Given the description of an element on the screen output the (x, y) to click on. 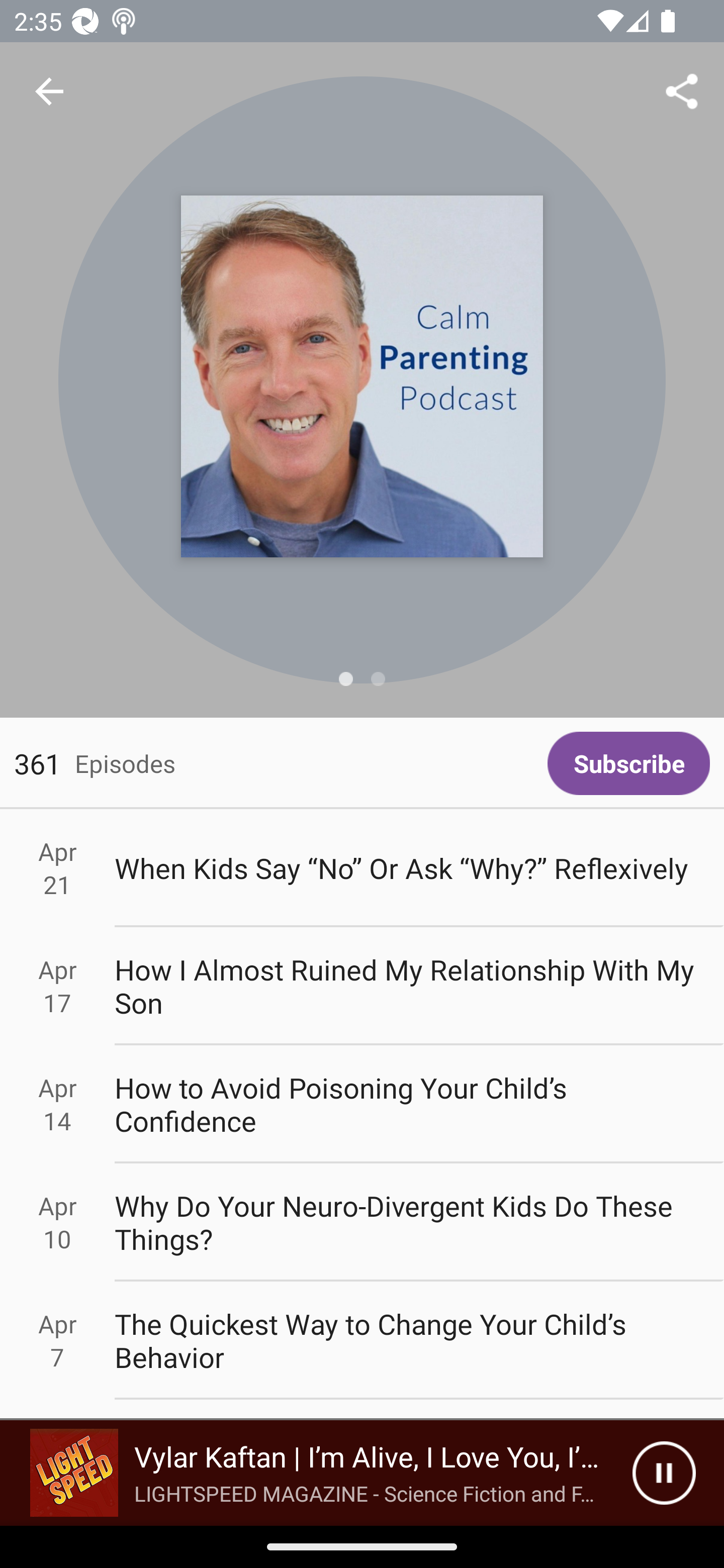
Navigate up (49, 91)
Share... (681, 90)
Subscribe (628, 763)
Pause (663, 1472)
